Given the description of an element on the screen output the (x, y) to click on. 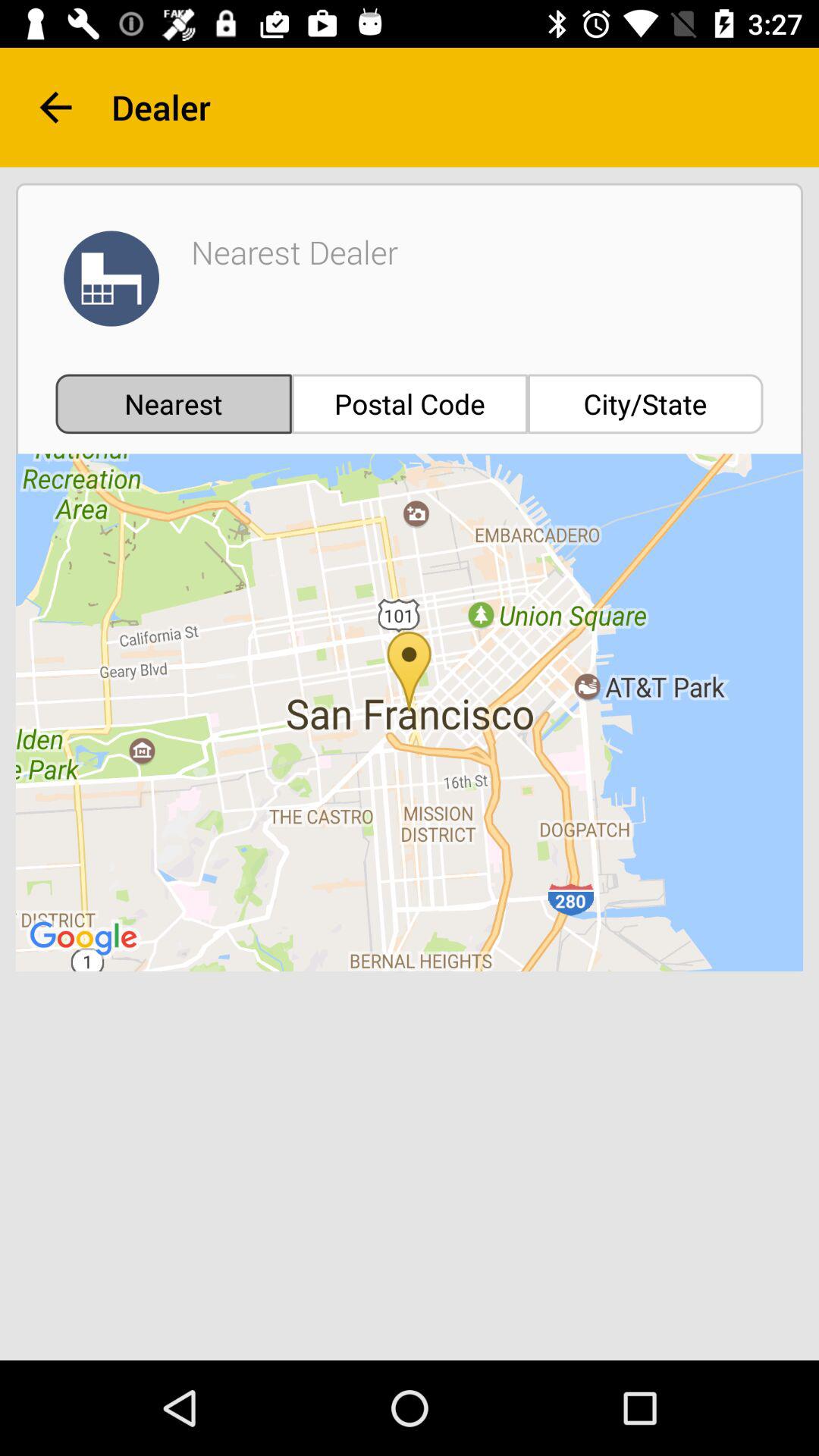
click the item to the left of the dealer item (55, 107)
